Given the description of an element on the screen output the (x, y) to click on. 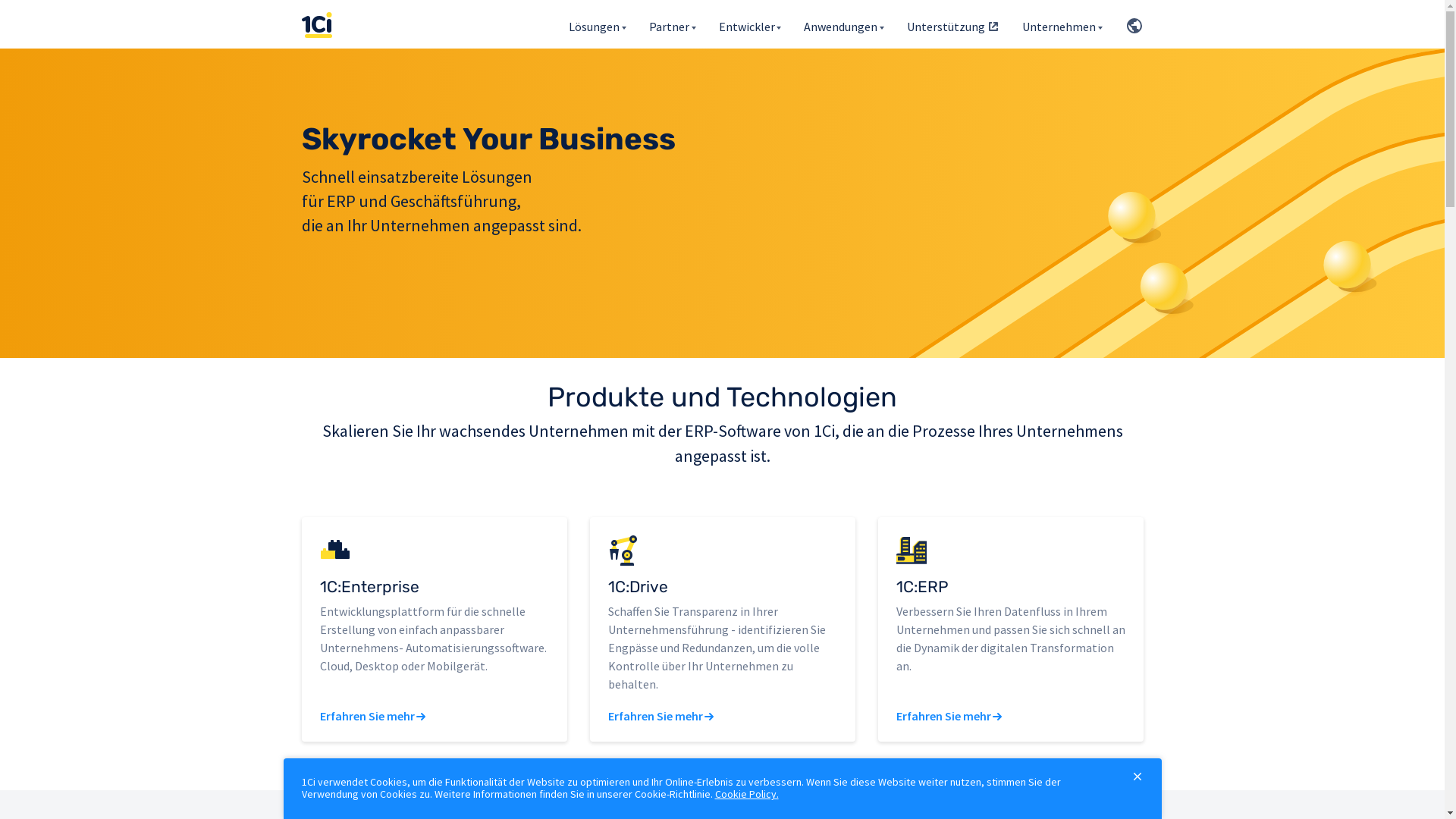
Cookie Policy. Element type: text (746, 793)
Erfahren Sie mehr Element type: text (655, 715)
Unternehmen Element type: text (1062, 24)
Erfahren Sie mehr Element type: text (943, 715)
Erfahren Sie mehr Element type: text (367, 715)
Partner Element type: text (672, 24)
Entwickler Element type: text (749, 24)
Anwendungen Element type: text (843, 24)
